Given the description of an element on the screen output the (x, y) to click on. 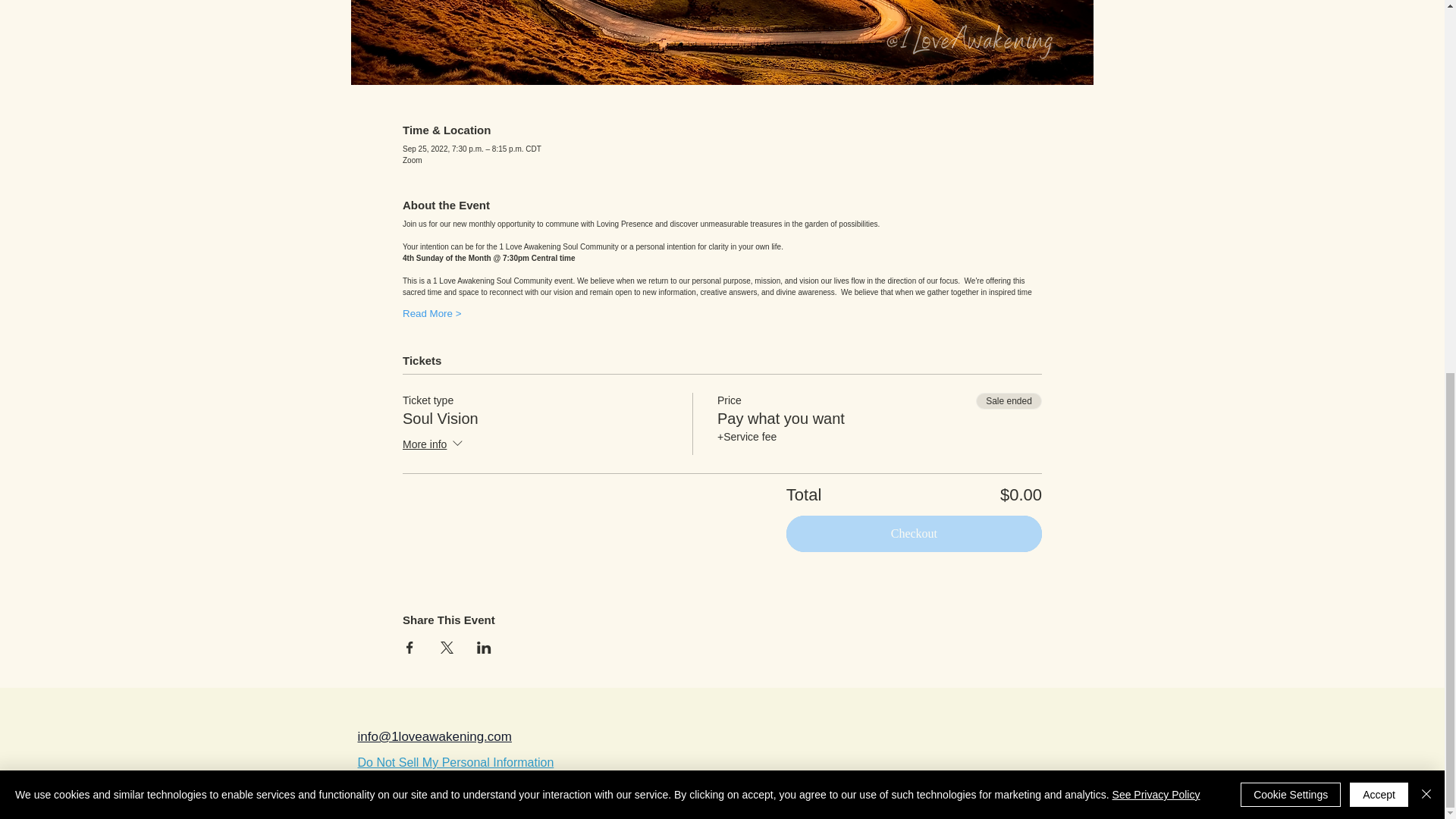
Accept (1378, 113)
See Privacy Policy (1155, 113)
Do Not Sell My Personal Information (456, 762)
Checkout (914, 533)
Privacy Policy (411, 786)
More info (434, 444)
Cookie Settings (1290, 113)
